Given the description of an element on the screen output the (x, y) to click on. 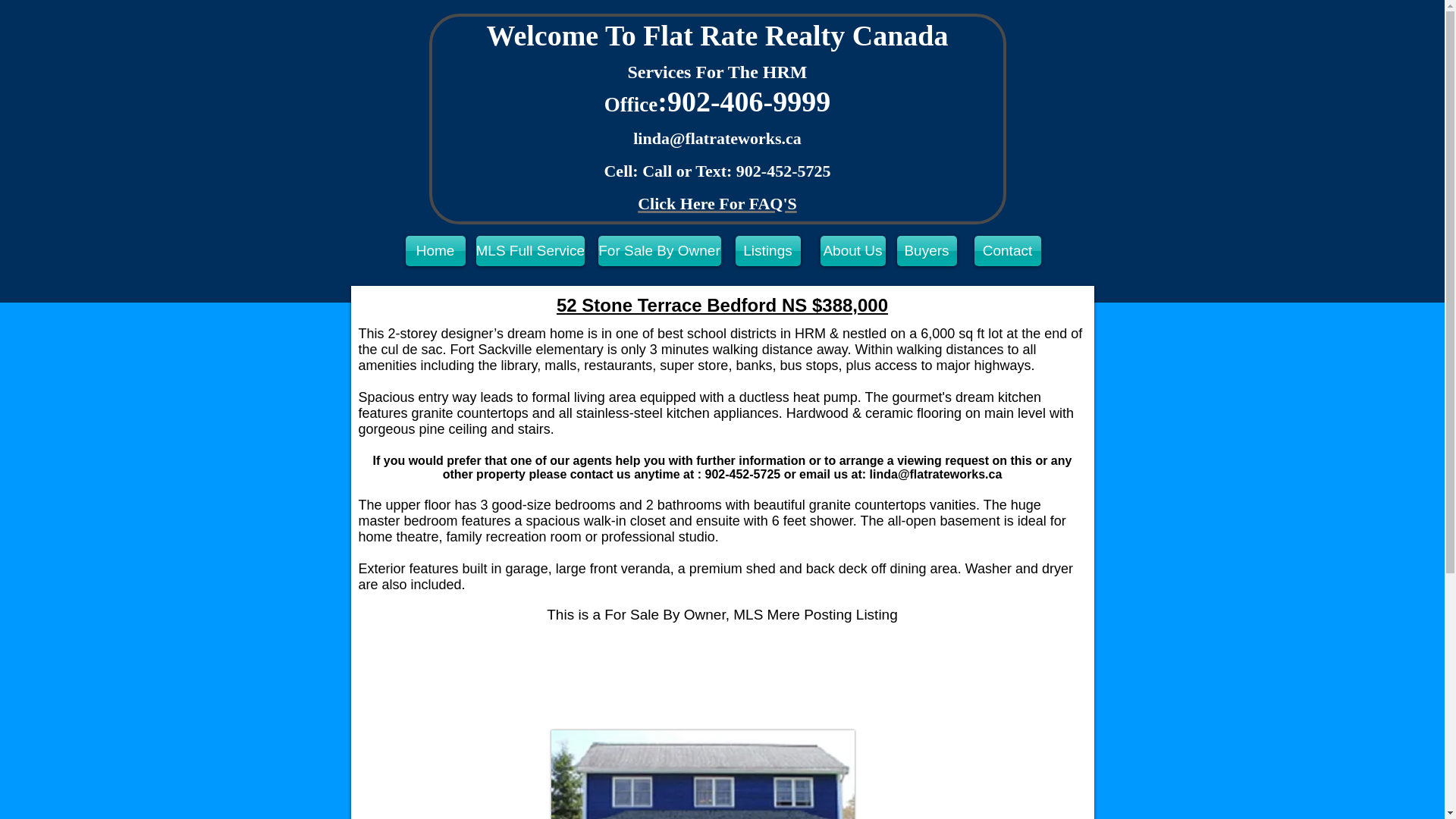
Home (434, 250)
Click Here For FAQ'S (716, 199)
Contact (1007, 250)
Listings (767, 250)
MLS Full Service (530, 250)
For Sale By Owner (658, 250)
Buyers (926, 250)
About Us (853, 250)
